Given the description of an element on the screen output the (x, y) to click on. 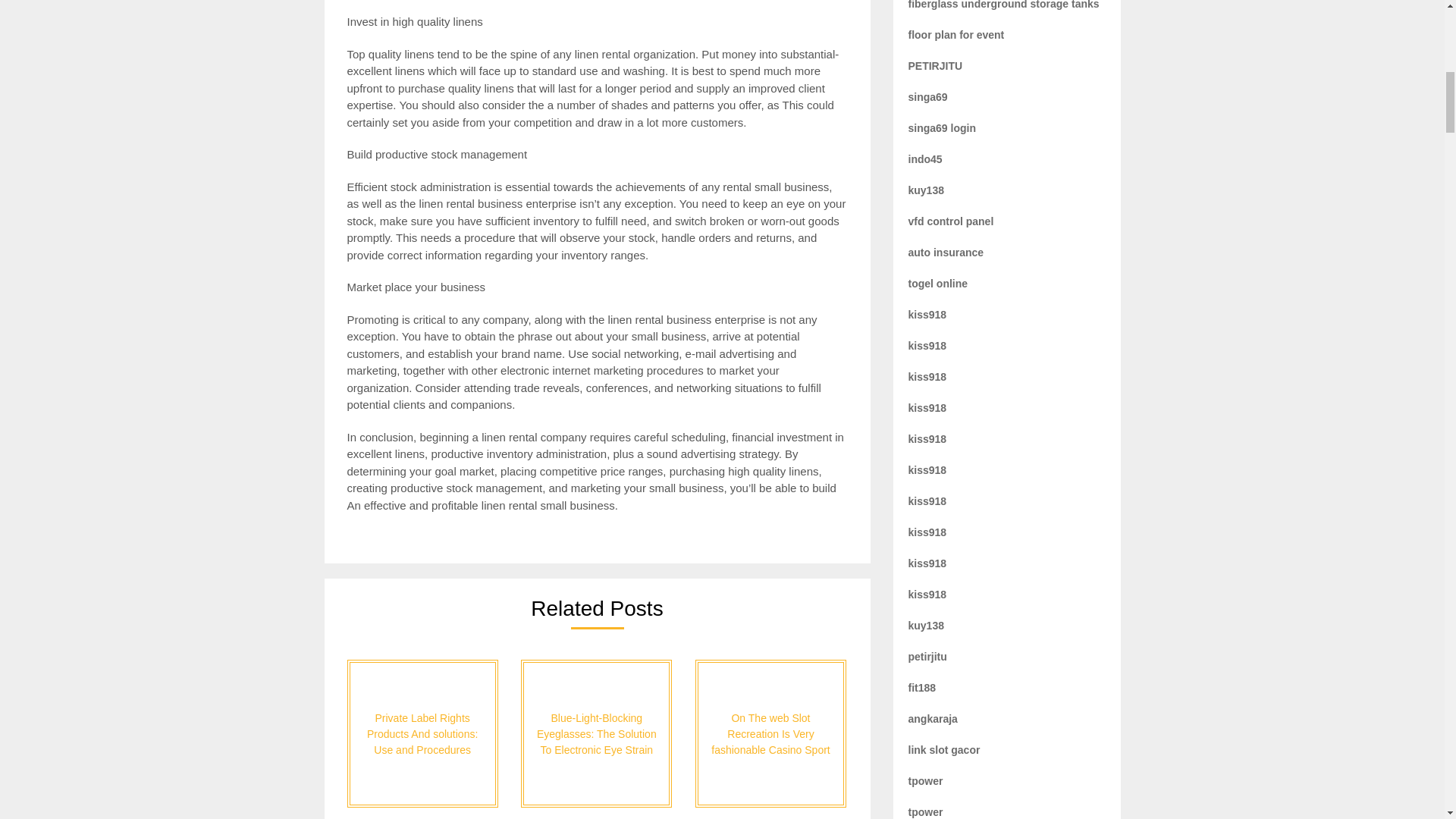
singa69 (927, 96)
kiss918 (927, 314)
singa69 login (941, 128)
indo45 (925, 159)
kiss918 (927, 500)
togel online (938, 283)
PETIRJITU (935, 65)
kiss918 (927, 377)
